Given the description of an element on the screen output the (x, y) to click on. 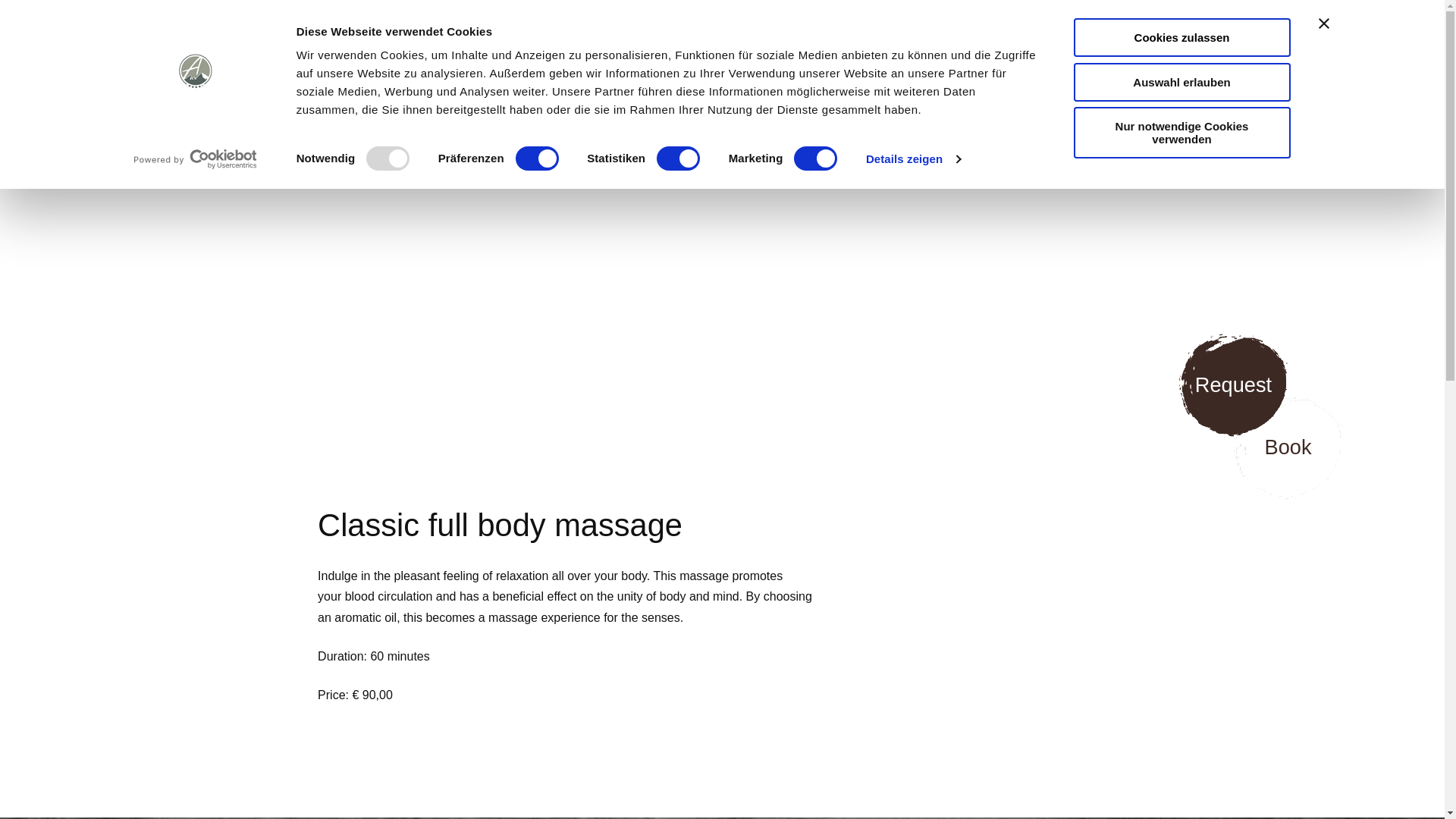
Cookies zulassen (1182, 37)
Auswahl erlauben (1182, 81)
Nur notwendige Cookies verwenden (1182, 132)
Details zeigen (913, 159)
